Given the description of an element on the screen output the (x, y) to click on. 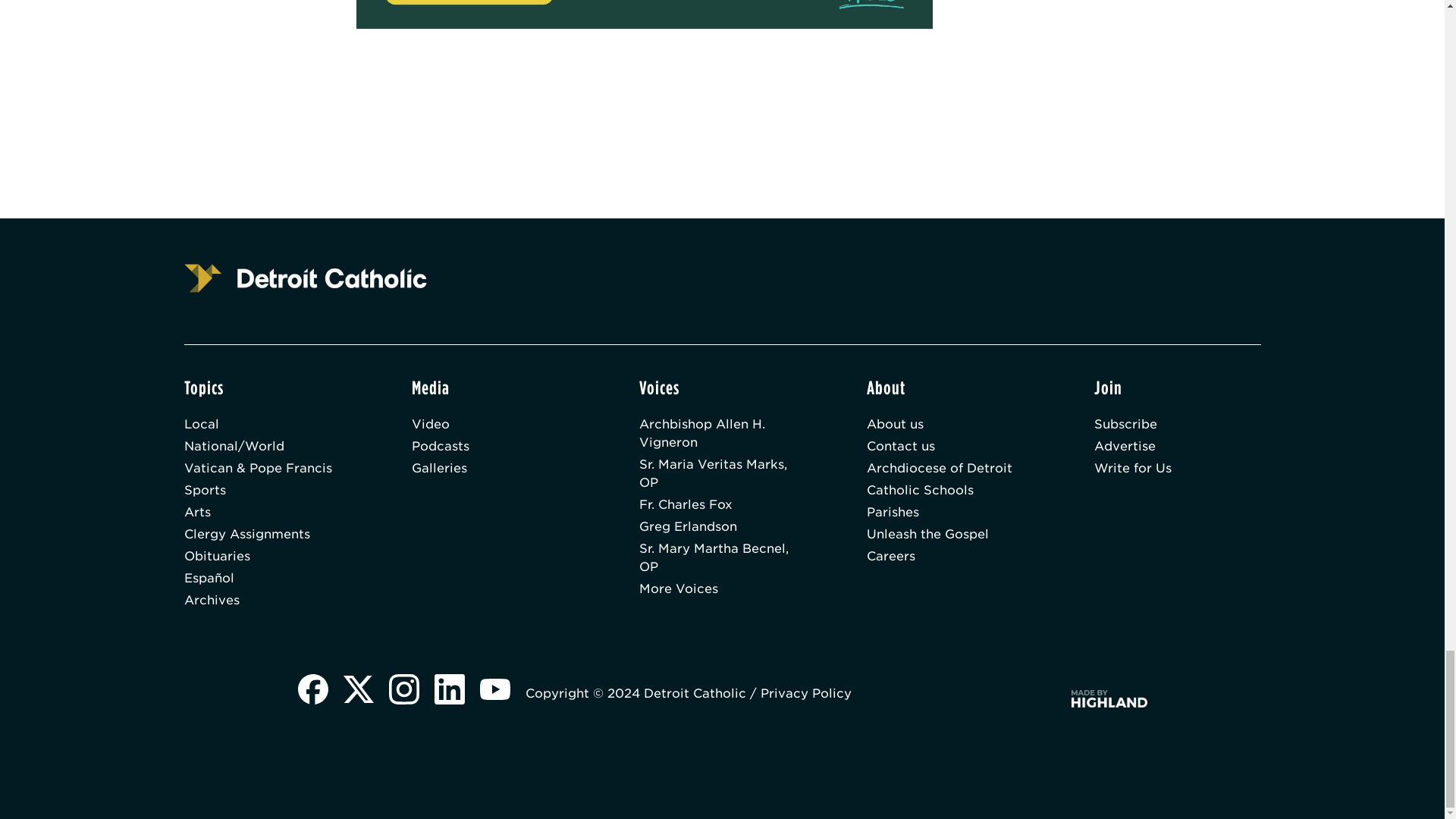
Facebook (312, 691)
LinkedIn (448, 691)
AOD-IAM: July Article Bottom (644, 14)
Instagram (403, 691)
Youtube (494, 691)
Twitter (357, 691)
